Given the description of an element on the screen output the (x, y) to click on. 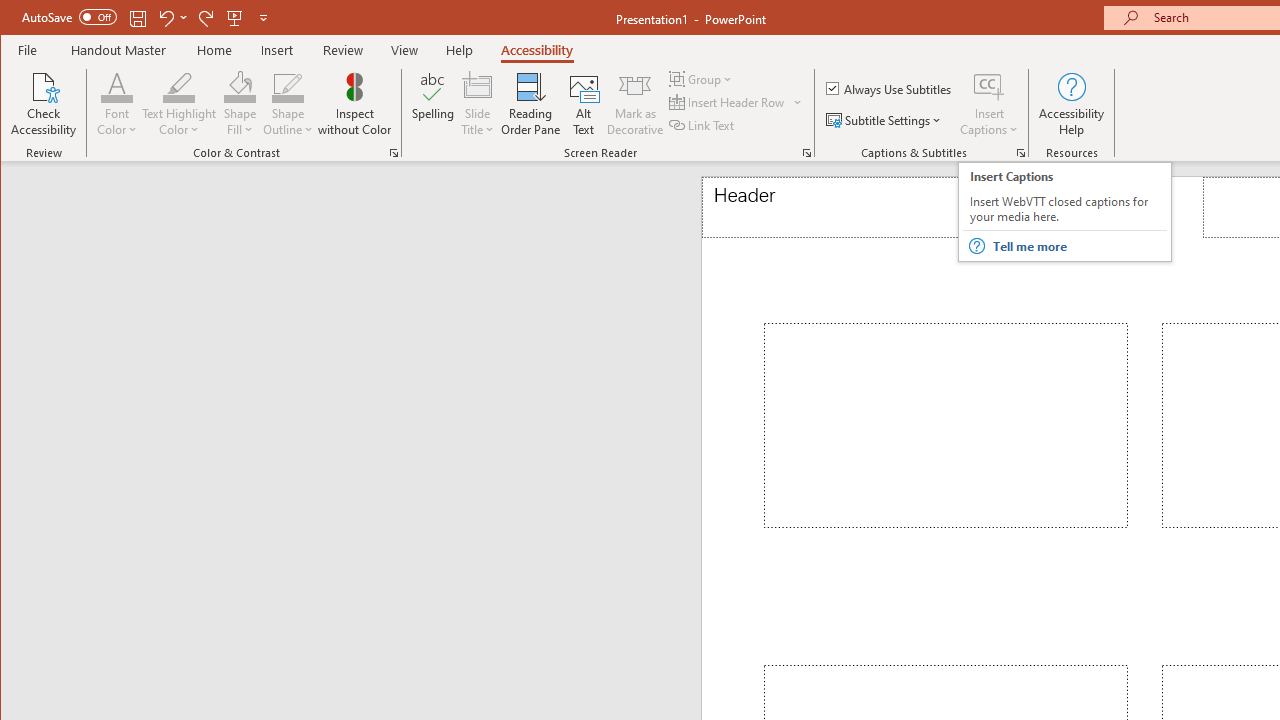
Accessibility Help (1071, 104)
Group (701, 78)
Shape Outline (288, 104)
Spelling... (432, 104)
Insert Captions (989, 104)
Insert Captions (989, 86)
Shape Outline Blue, Accent 1 (288, 86)
Check Accessibility (43, 104)
